Given the description of an element on the screen output the (x, y) to click on. 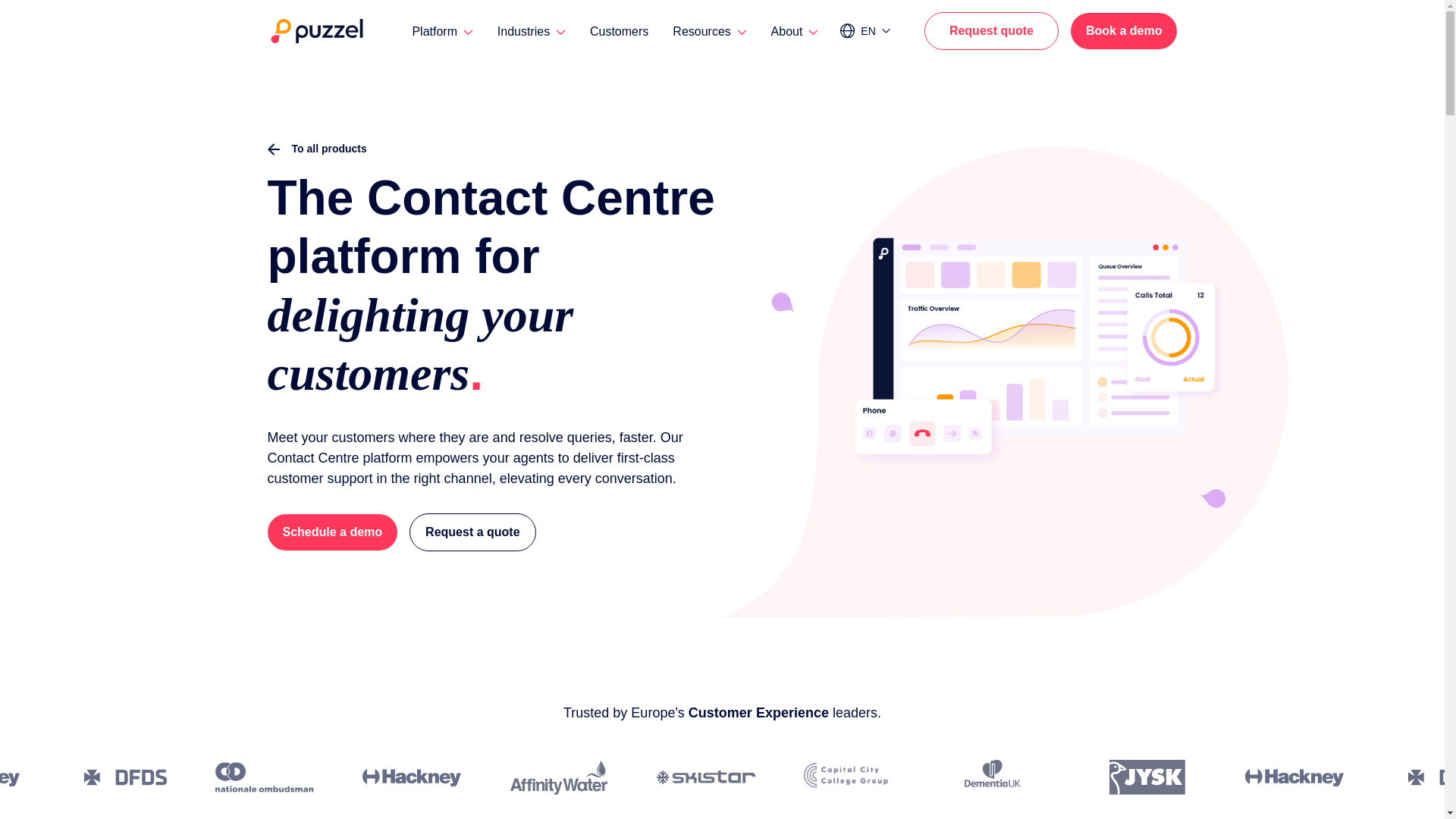
Back to home (315, 30)
Customers (618, 31)
Book a demo (1123, 31)
About (794, 31)
Industries (531, 31)
Platform (441, 31)
Request quote (991, 30)
Resources (708, 31)
